Given the description of an element on the screen output the (x, y) to click on. 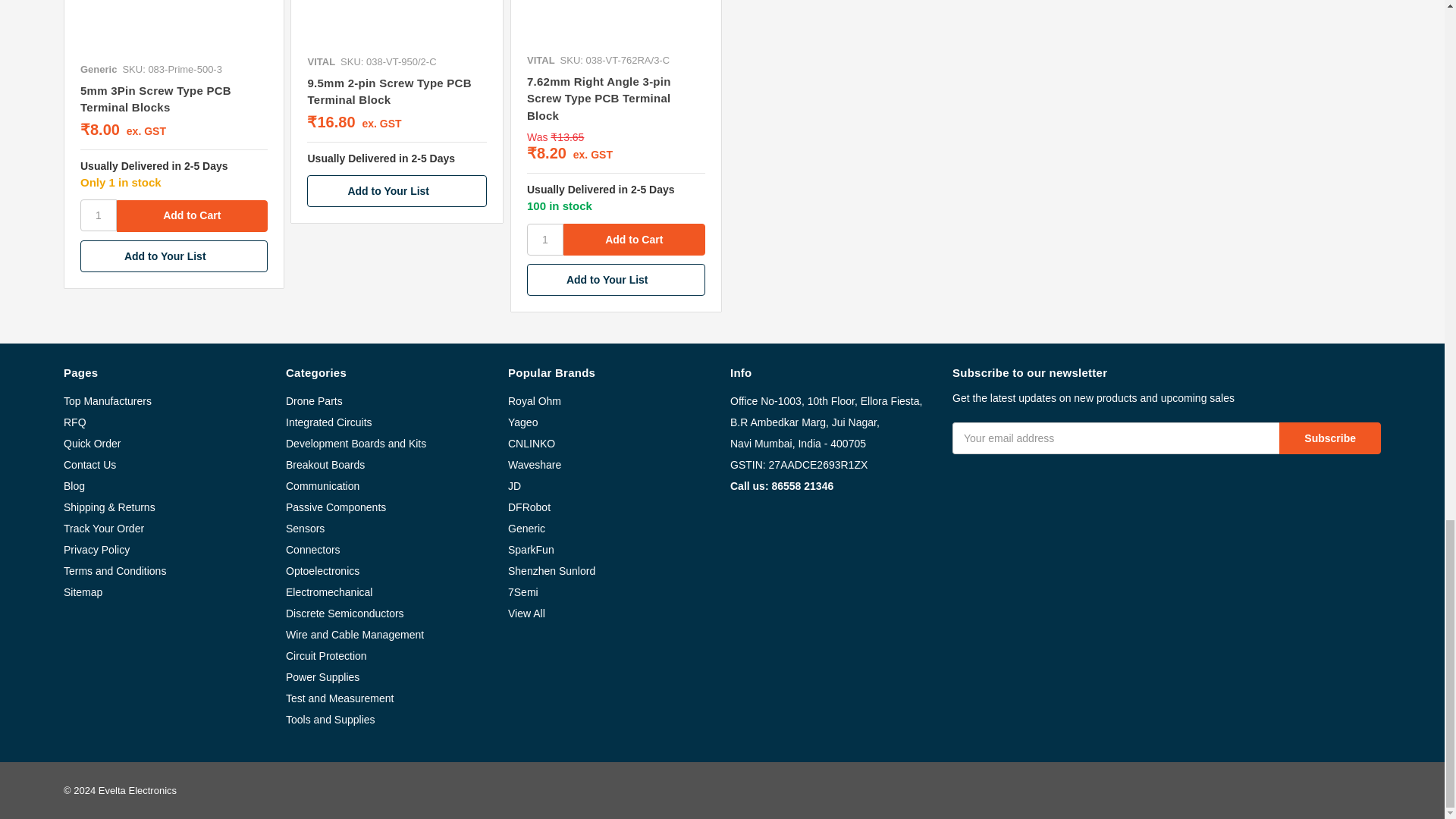
7.62mm Right Angle 3-pin Screw Type PCB Terminal Block (615, 22)
Excluding Tax (379, 123)
Add to Your List (615, 279)
1 (98, 214)
Excluding Tax (590, 154)
Add to Your List (396, 191)
1 (545, 239)
Excluding Tax (143, 131)
Add to Your List (173, 255)
Add to Cart (633, 239)
